Given the description of an element on the screen output the (x, y) to click on. 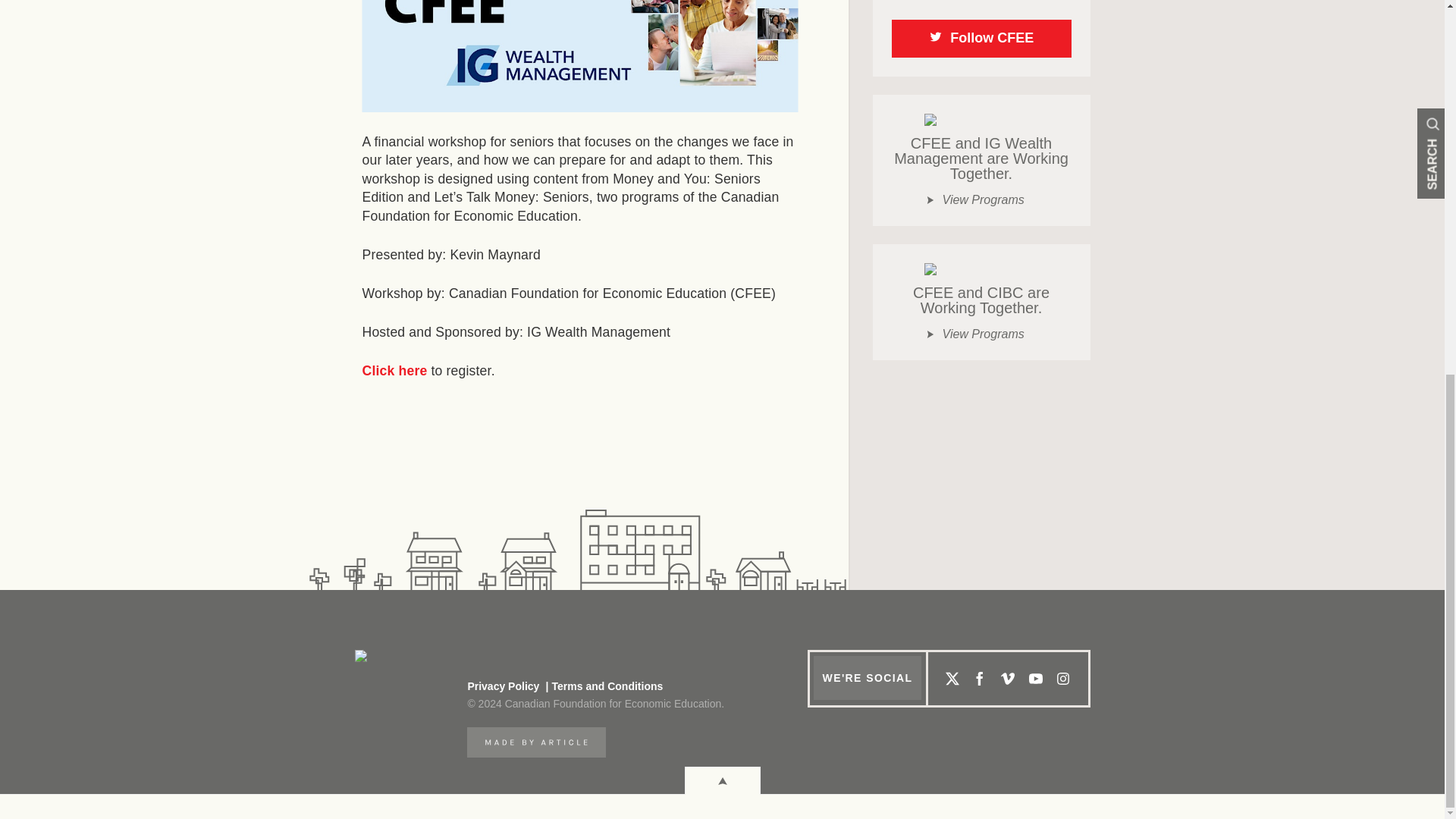
View Programs (981, 334)
View Programs (981, 200)
Terms and Conditions (601, 686)
Click here (395, 370)
Privacy Policy (502, 686)
Follow CFEE (981, 38)
